Given the description of an element on the screen output the (x, y) to click on. 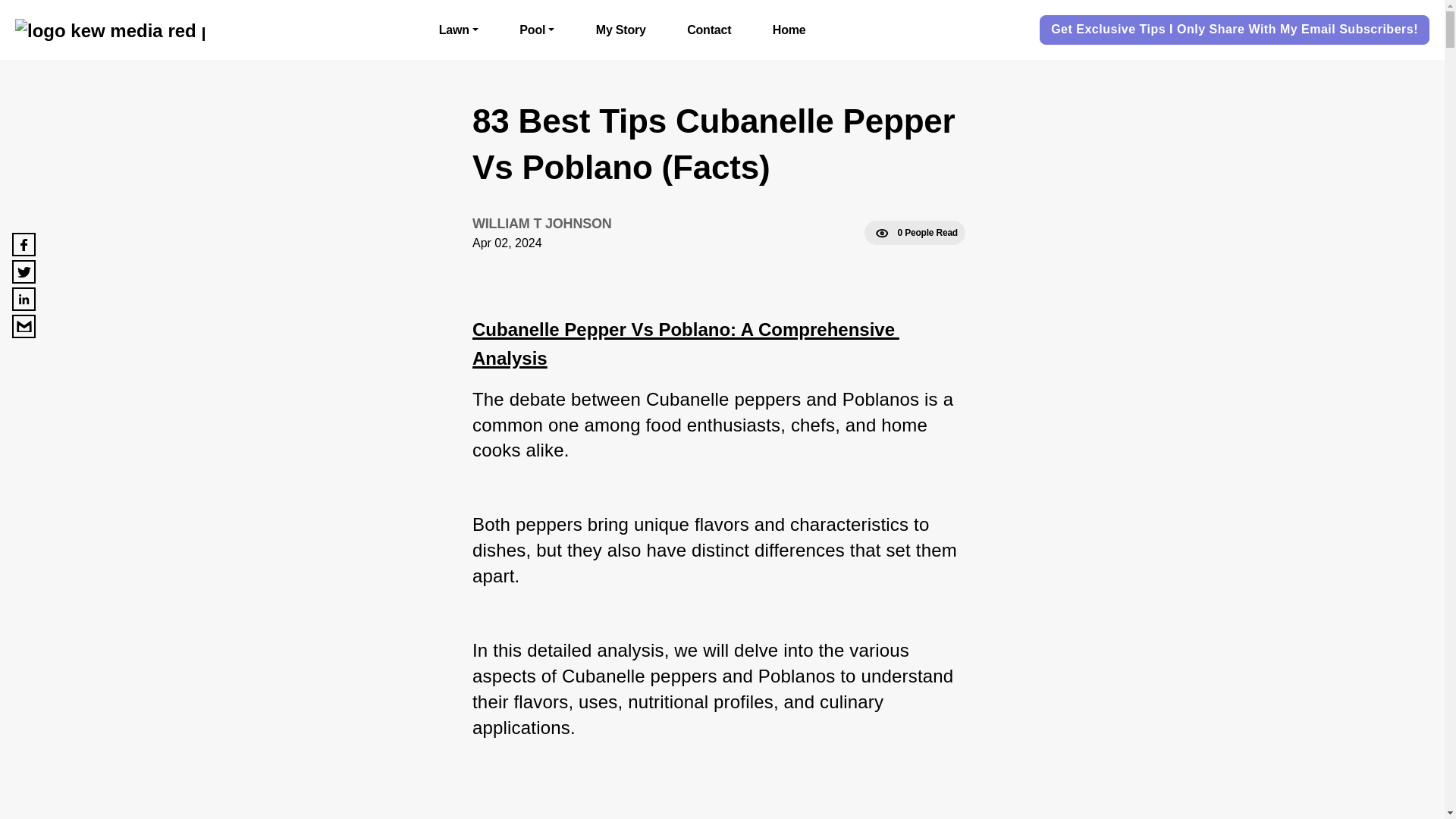
Contact (708, 29)
My Story (620, 29)
Pool (536, 29)
Get Exclusive Tips I Only Share With My Email Subscribers! (1234, 30)
Home (789, 29)
Lawn (458, 29)
